Given the description of an element on the screen output the (x, y) to click on. 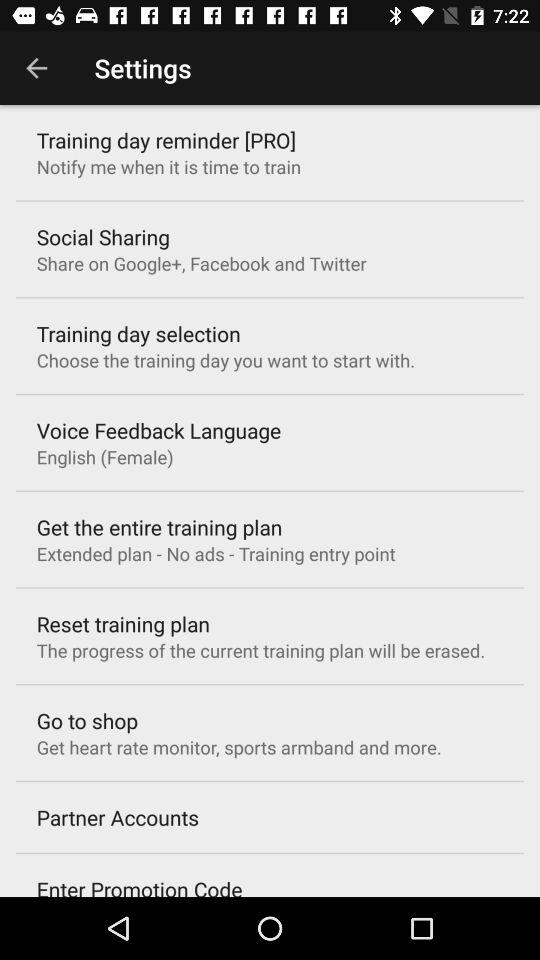
swipe to extended plan no (215, 553)
